Given the description of an element on the screen output the (x, y) to click on. 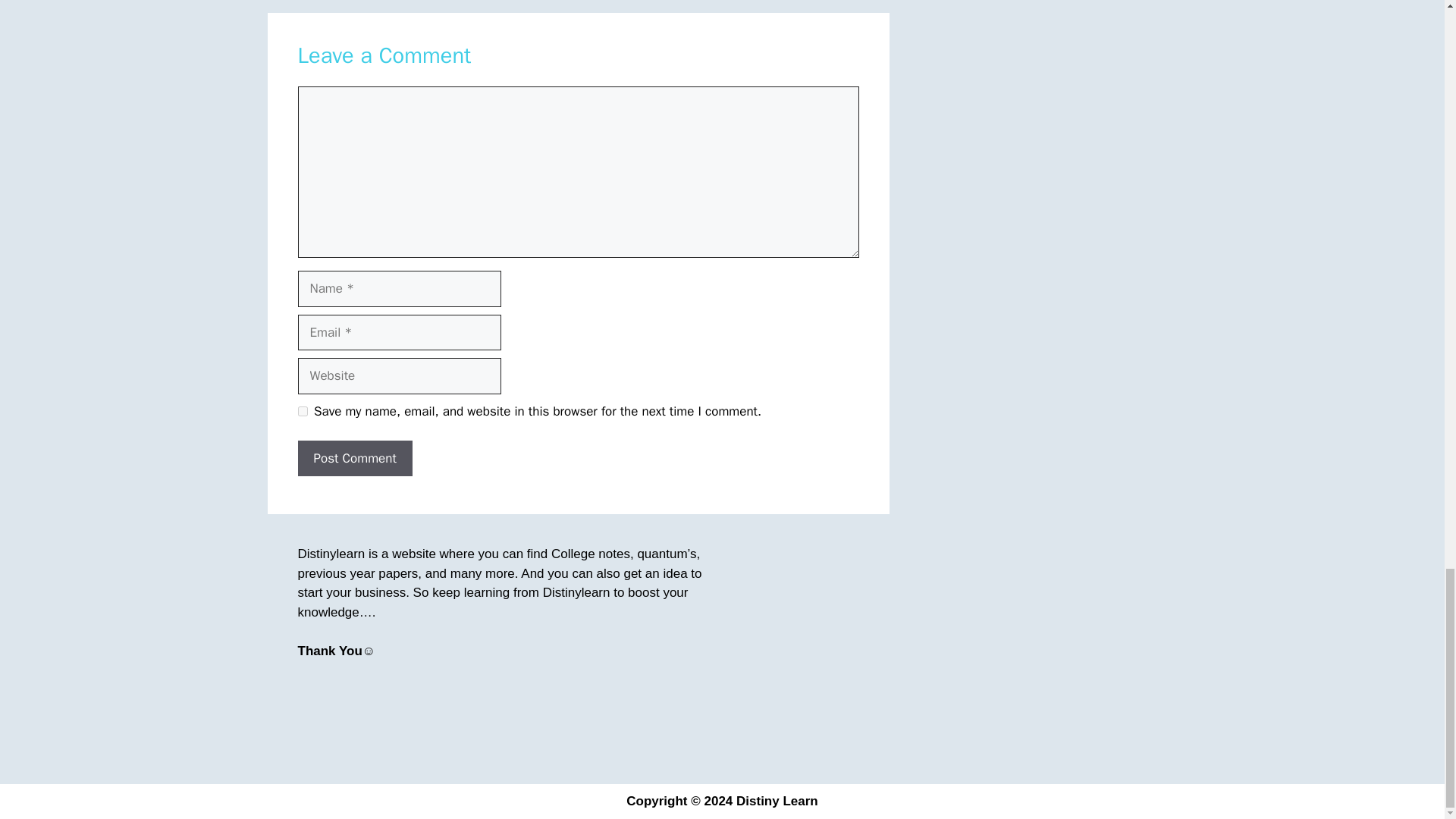
Post Comment (354, 458)
Post Comment (354, 458)
yes (302, 411)
